Given the description of an element on the screen output the (x, y) to click on. 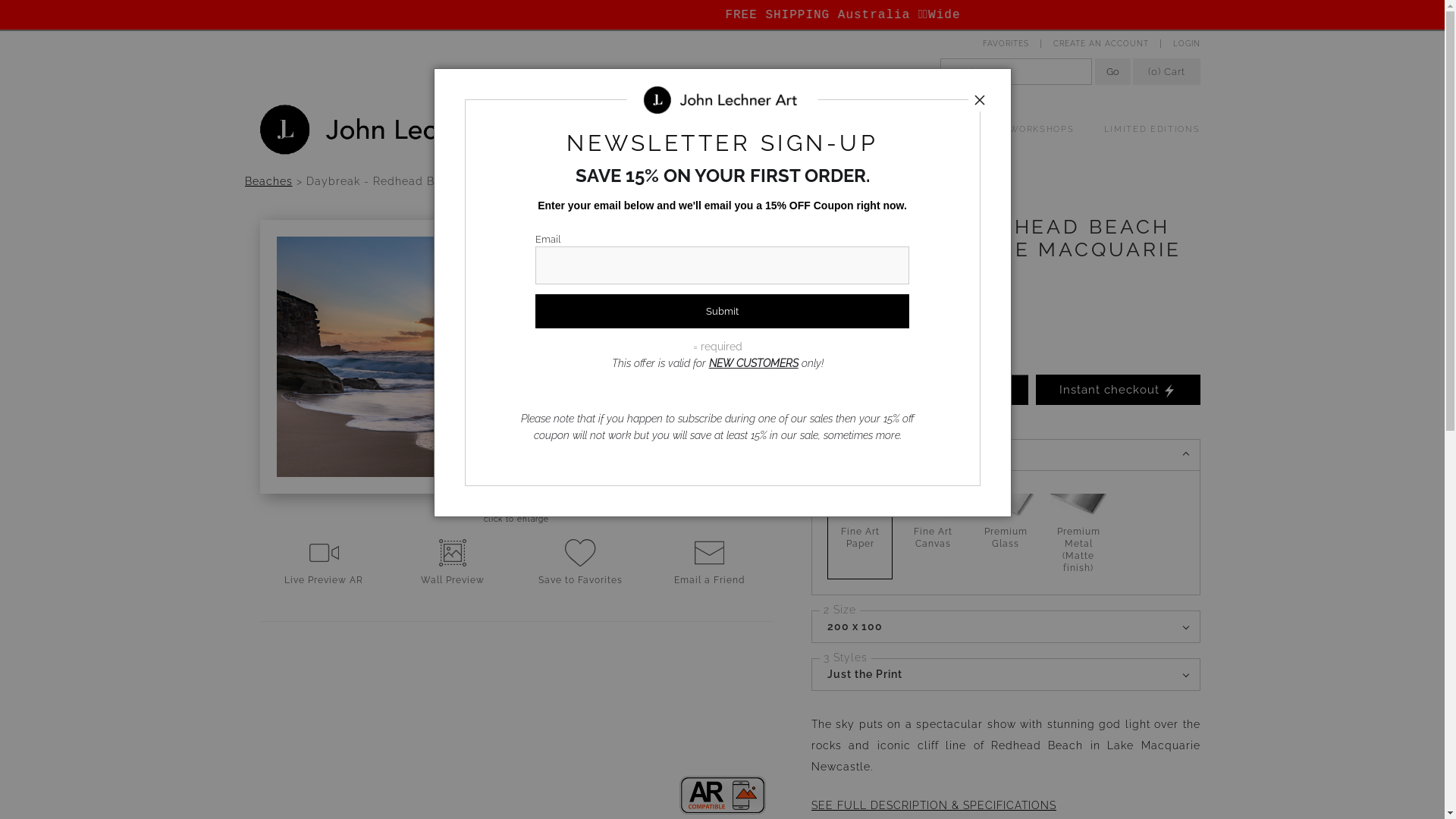
Add to Cart Element type: text (946, 389)
Go Element type: text (1112, 71)
FAVORITES Element type: text (1005, 43)
PHOTO TOURS & WORKSHOPS Element type: text (998, 128)
LIMITED EDITIONS Element type: text (1143, 128)
LOGIN Element type: text (1181, 43)
Save to
Favorites Element type: text (580, 563)
ABOUT Element type: text (684, 128)
CONTACT US Element type: text (766, 128)
Live
Preview AR Element type: text (323, 563)
2 Size
200 x 100 Element type: text (1005, 626)
3 Styles
Just the Print Element type: text (1005, 673)
Beaches Element type: text (267, 180)
SHOP ART Element type: text (612, 128)
SEE FULL DESCRIPTION & SPECIFICATIONS Element type: text (935, 804)
Wall
Preview Element type: text (452, 563)
CREATE AN ACCOUNT Element type: text (1099, 43)
GIFT CARDS Element type: text (861, 128)
(0) Cart Element type: text (1166, 71)
Instant checkout Element type: text (1117, 389)
click to enlarge Element type: text (516, 519)
Submit Element type: text (722, 311)
1 Medium
Fine Art Paper Element type: text (1005, 454)
Email a
Friend Element type: text (709, 563)
